Given the description of an element on the screen output the (x, y) to click on. 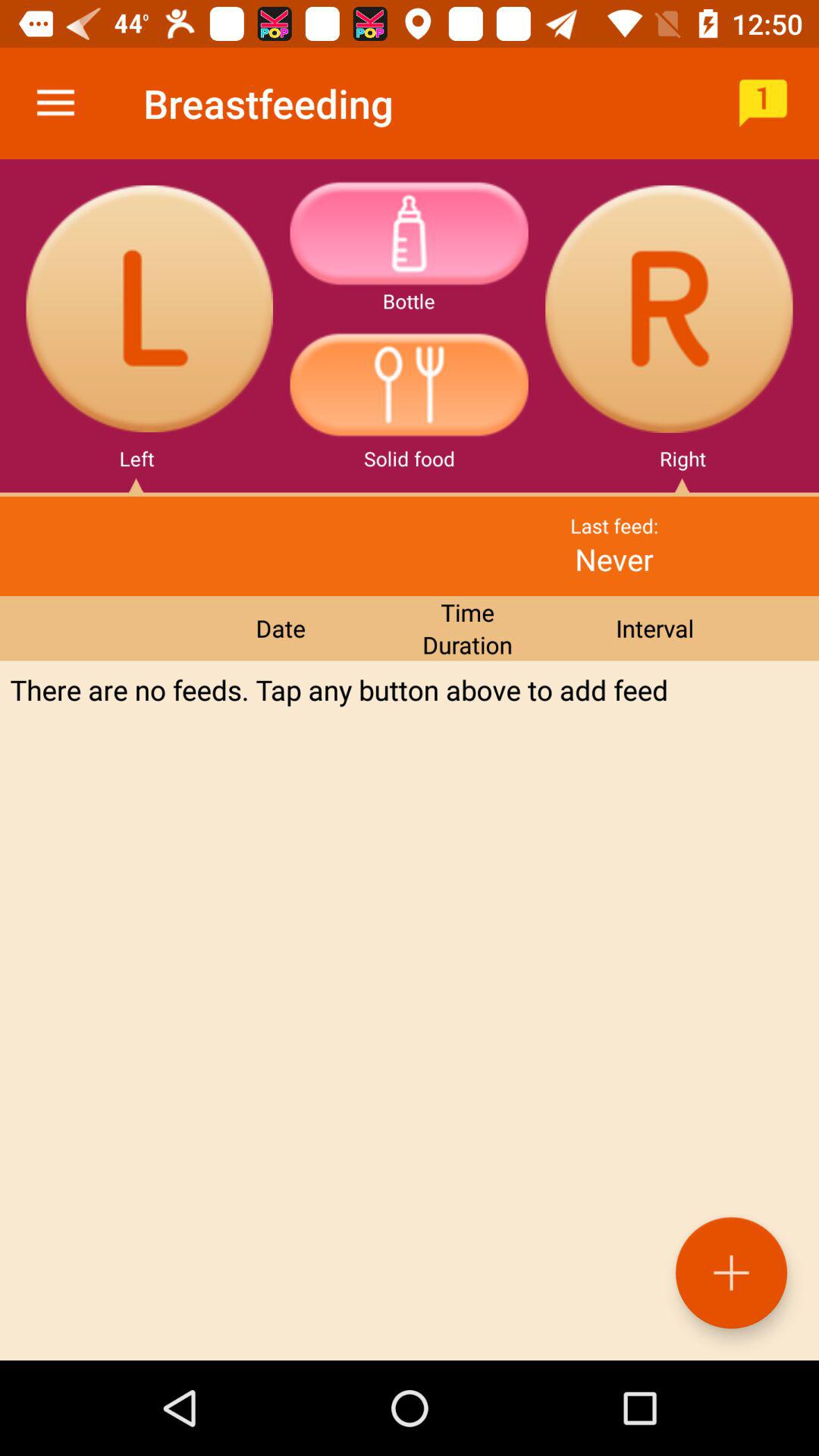
turn on icon to the right of breastfeeding icon (763, 103)
